Given the description of an element on the screen output the (x, y) to click on. 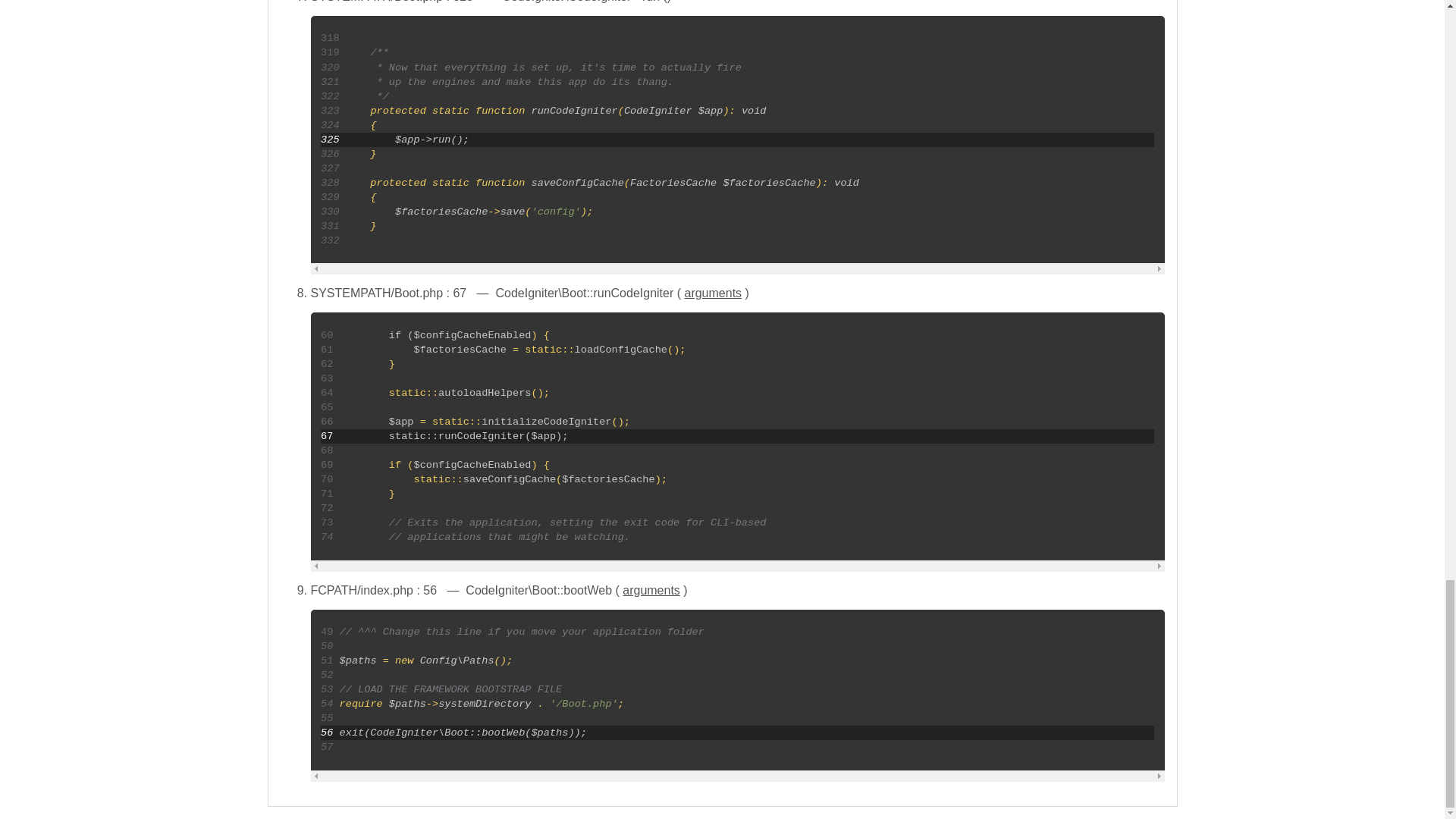
arguments (651, 590)
arguments (712, 292)
